Given the description of an element on the screen output the (x, y) to click on. 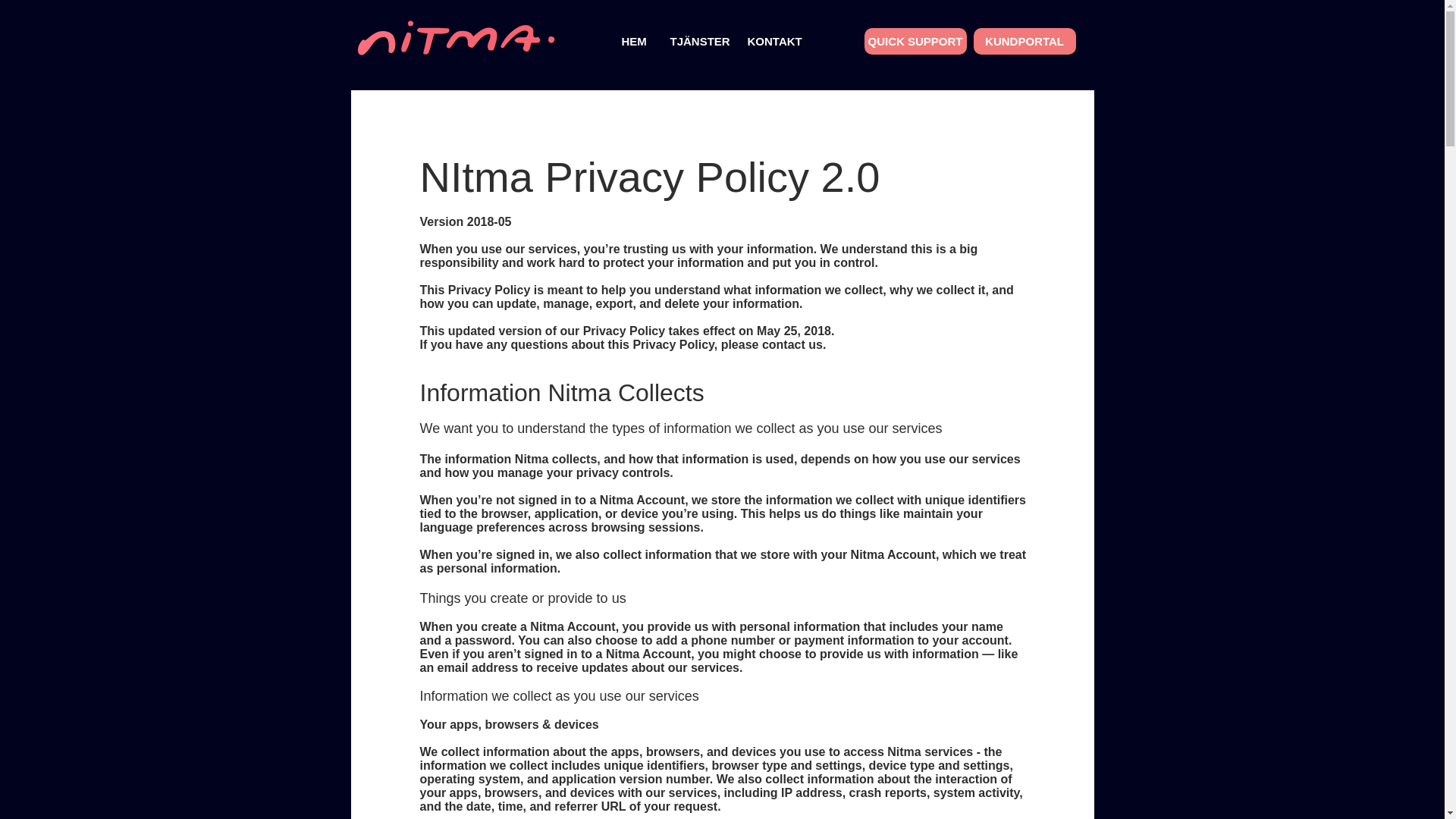
KONTAKT (773, 40)
KUNDPORTAL (1024, 40)
QUICK SUPPORT (915, 40)
HEM (634, 40)
